Given the description of an element on the screen output the (x, y) to click on. 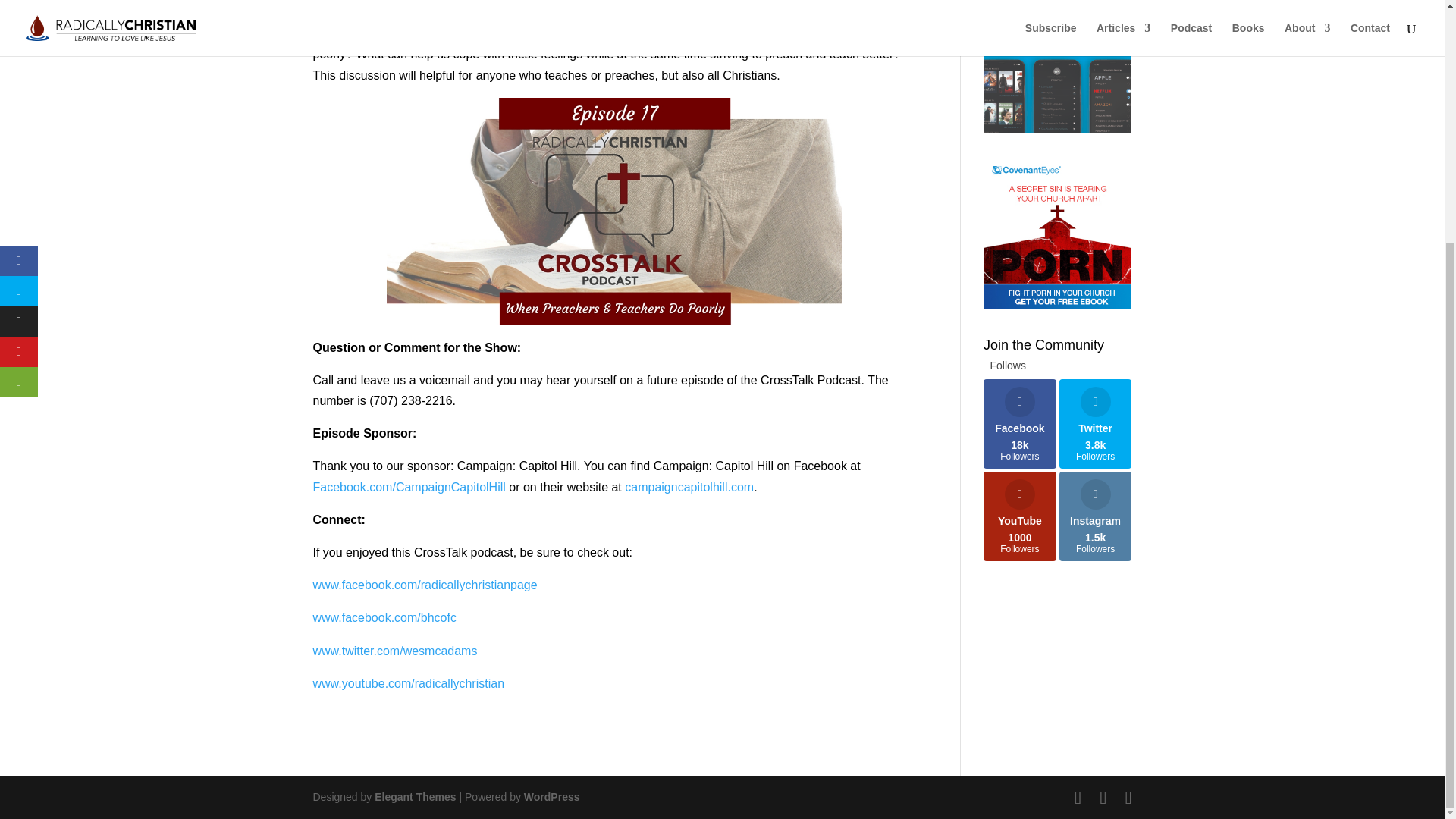
Premium WordPress Themes (414, 797)
campaigncapitolhill.com (689, 486)
